Given the description of an element on the screen output the (x, y) to click on. 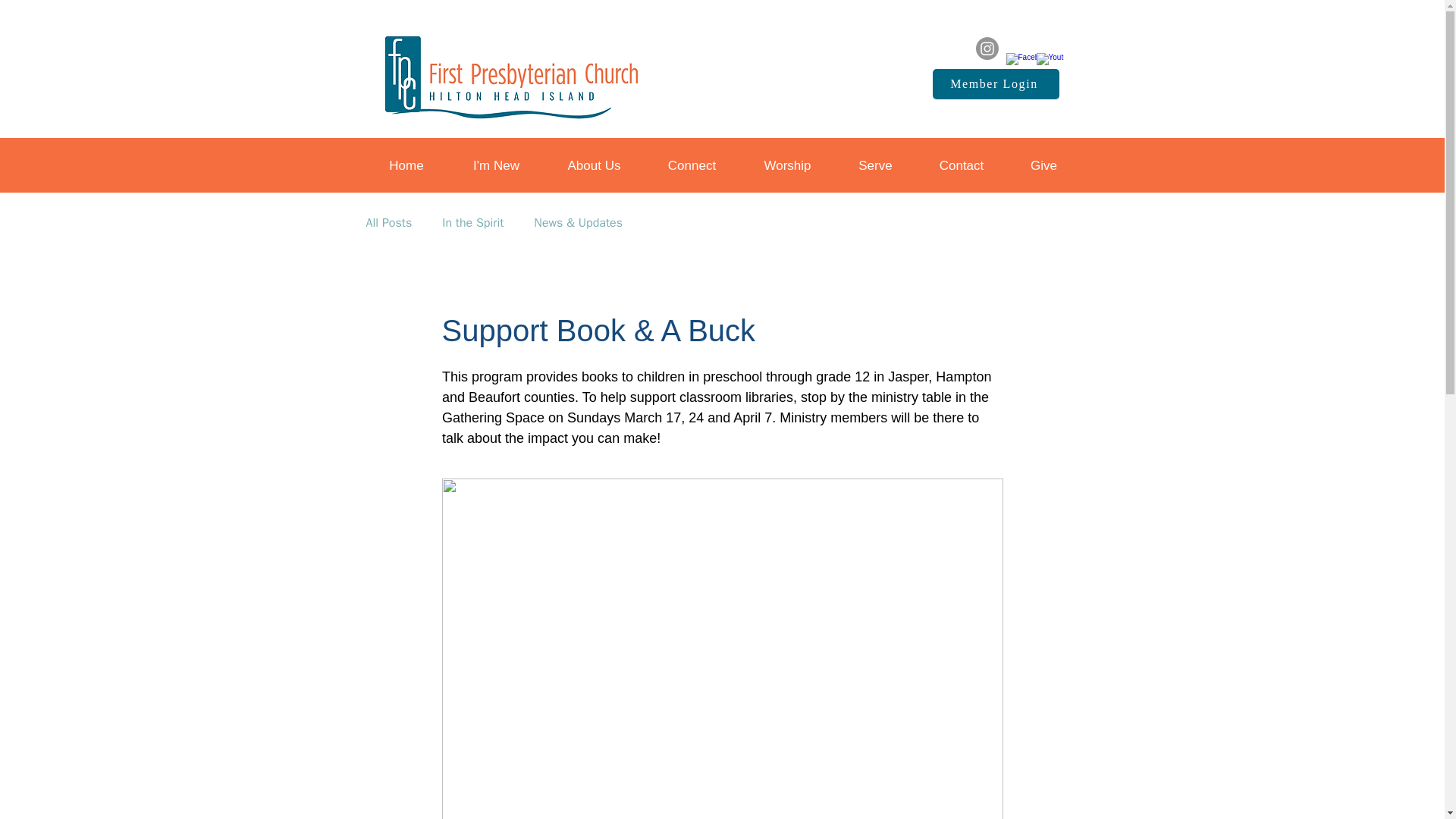
Home (406, 166)
Give (1043, 166)
I'm New (496, 166)
Worship (787, 166)
Contact (961, 166)
Member Login (996, 83)
About Us (594, 166)
All Posts (388, 222)
In the Spirit (472, 222)
Serve (875, 166)
